Given the description of an element on the screen output the (x, y) to click on. 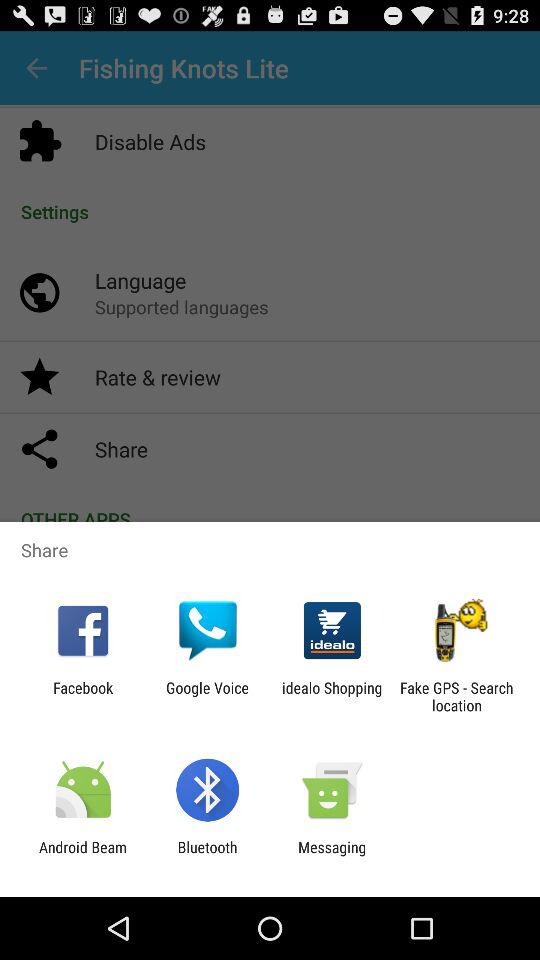
turn on the item next to the idealo shopping app (207, 696)
